Given the description of an element on the screen output the (x, y) to click on. 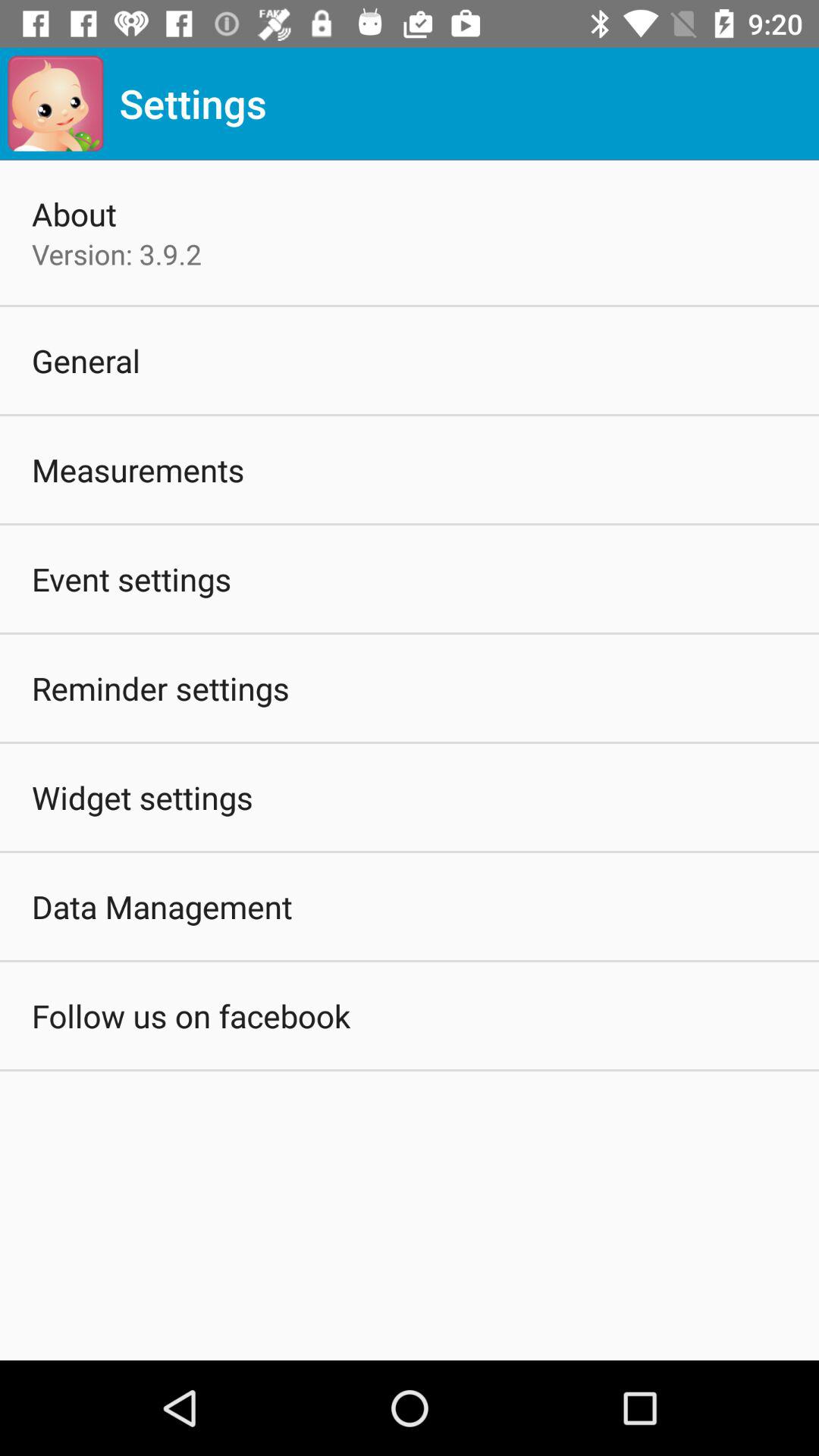
swipe until version 3 9 (116, 254)
